Given the description of an element on the screen output the (x, y) to click on. 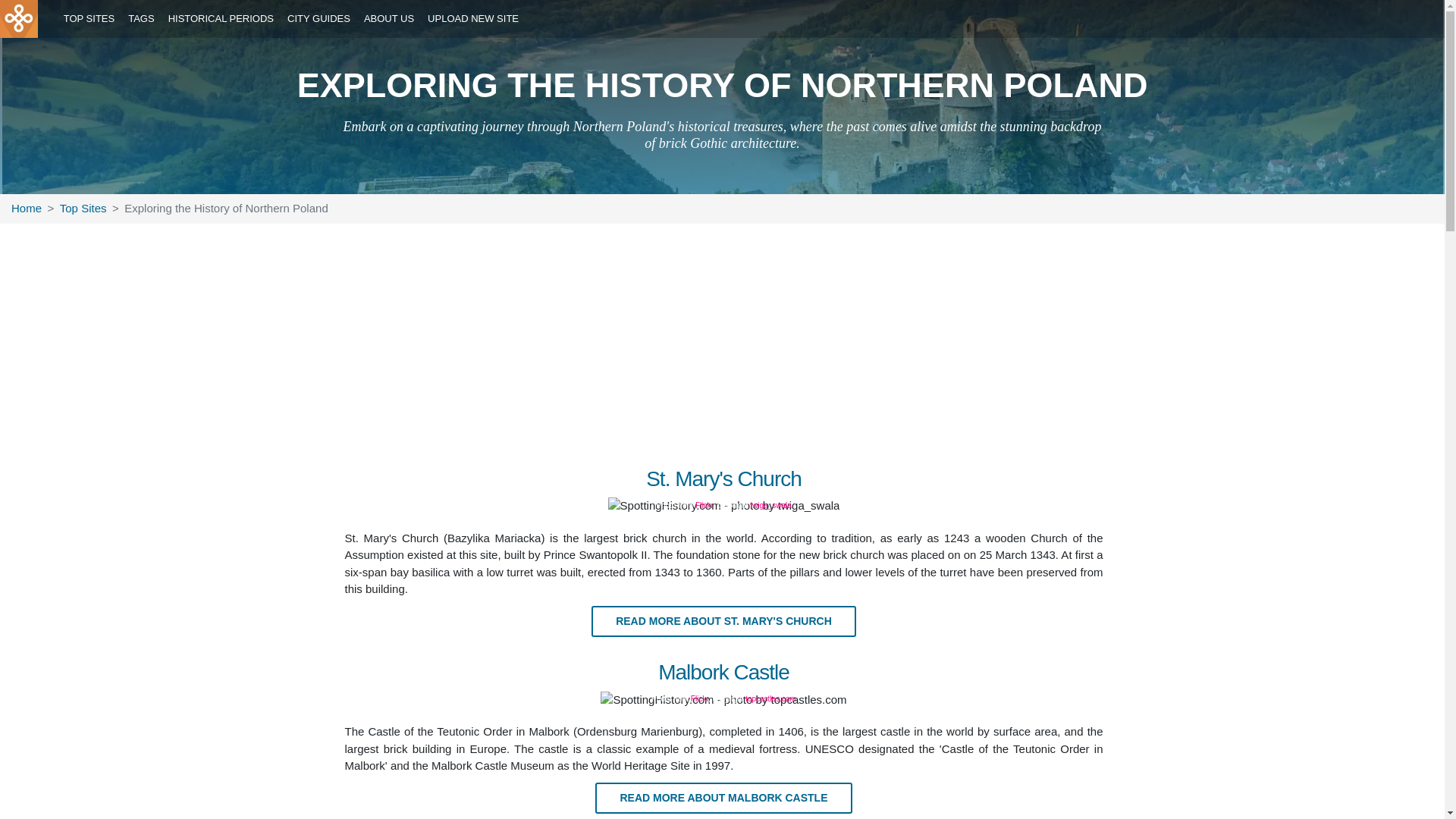
TAGS (141, 18)
Flickr (704, 505)
TOP SITES (88, 18)
READ MORE ABOUT MALBORK CASTLE (723, 797)
UPLOAD NEW SITE (473, 18)
READ MORE ABOUT ST. MARY'S CHURCH (723, 620)
CITY GUIDES (319, 18)
topcastles.com (770, 698)
Flickr (698, 698)
READ MORE ABOUT ST. MARY'S CHURCH (723, 621)
